Given the description of an element on the screen output the (x, y) to click on. 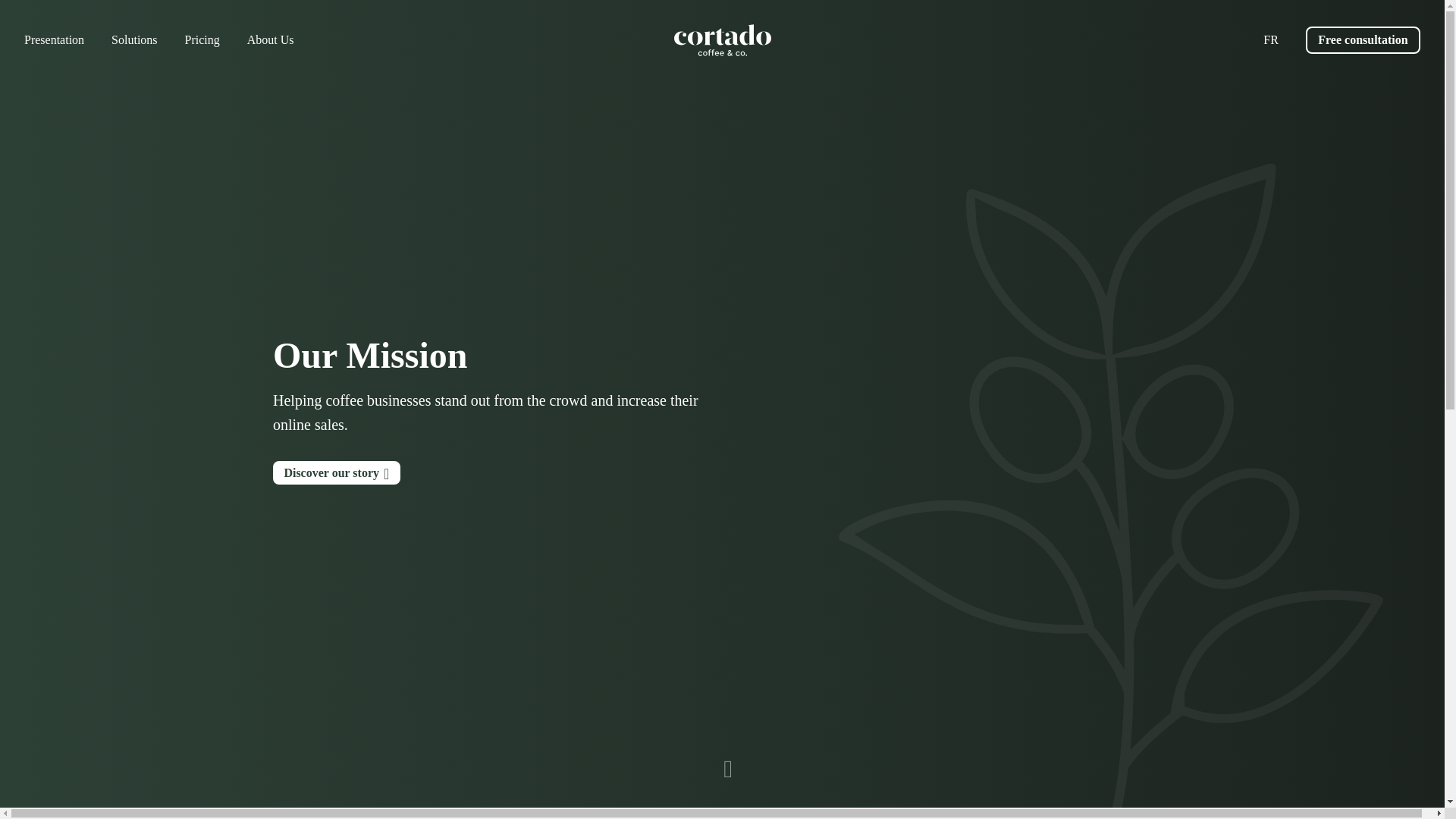
About Us (270, 39)
Presentation (54, 39)
Solutions (134, 39)
About Us (270, 39)
Presentation (54, 39)
Accueil (721, 40)
Solutions (134, 39)
Discover our story (336, 473)
Prices (201, 39)
Pricing (201, 39)
